Given the description of an element on the screen output the (x, y) to click on. 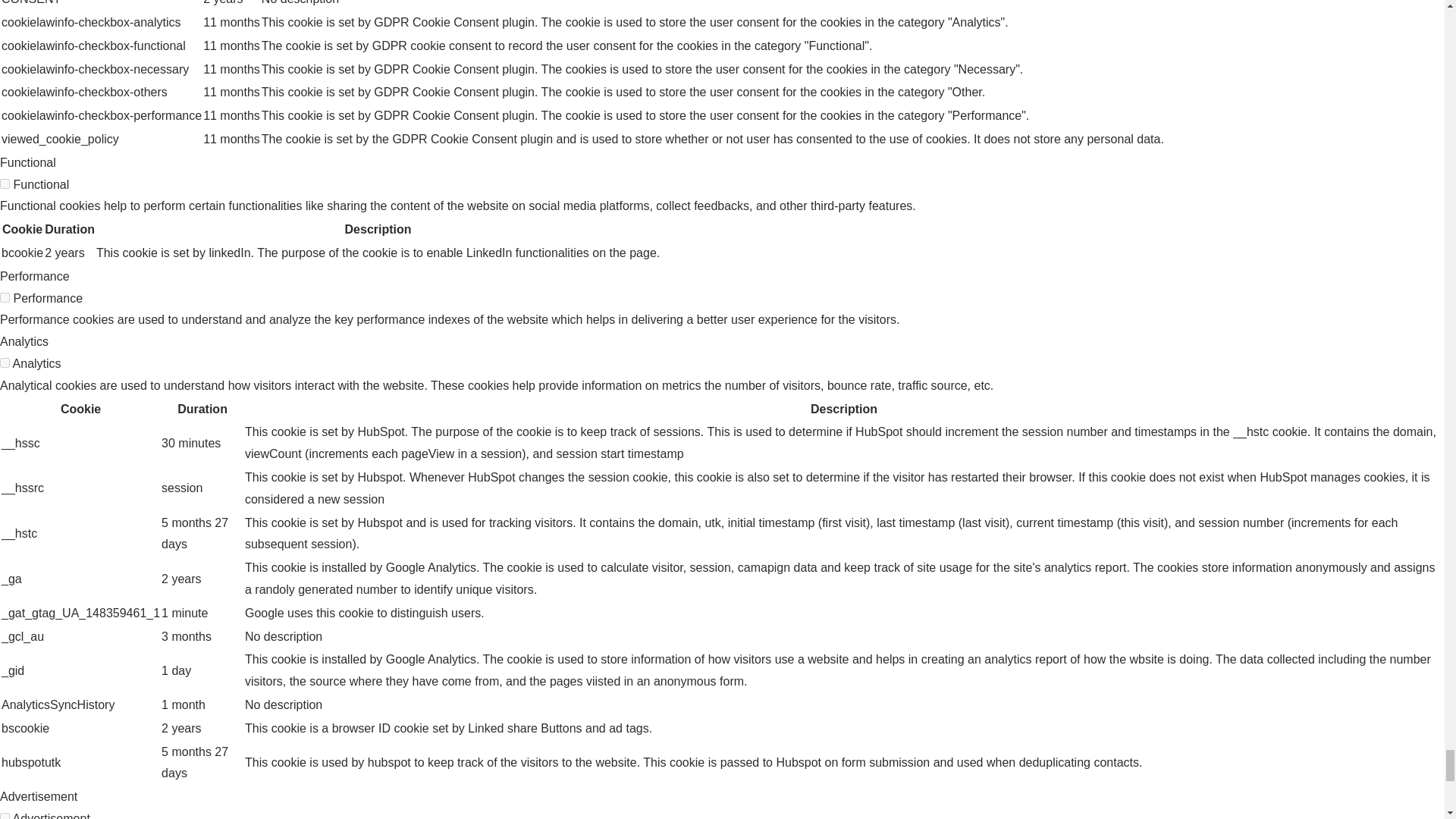
on (5, 362)
on (5, 297)
on (5, 184)
on (5, 816)
